Given the description of an element on the screen output the (x, y) to click on. 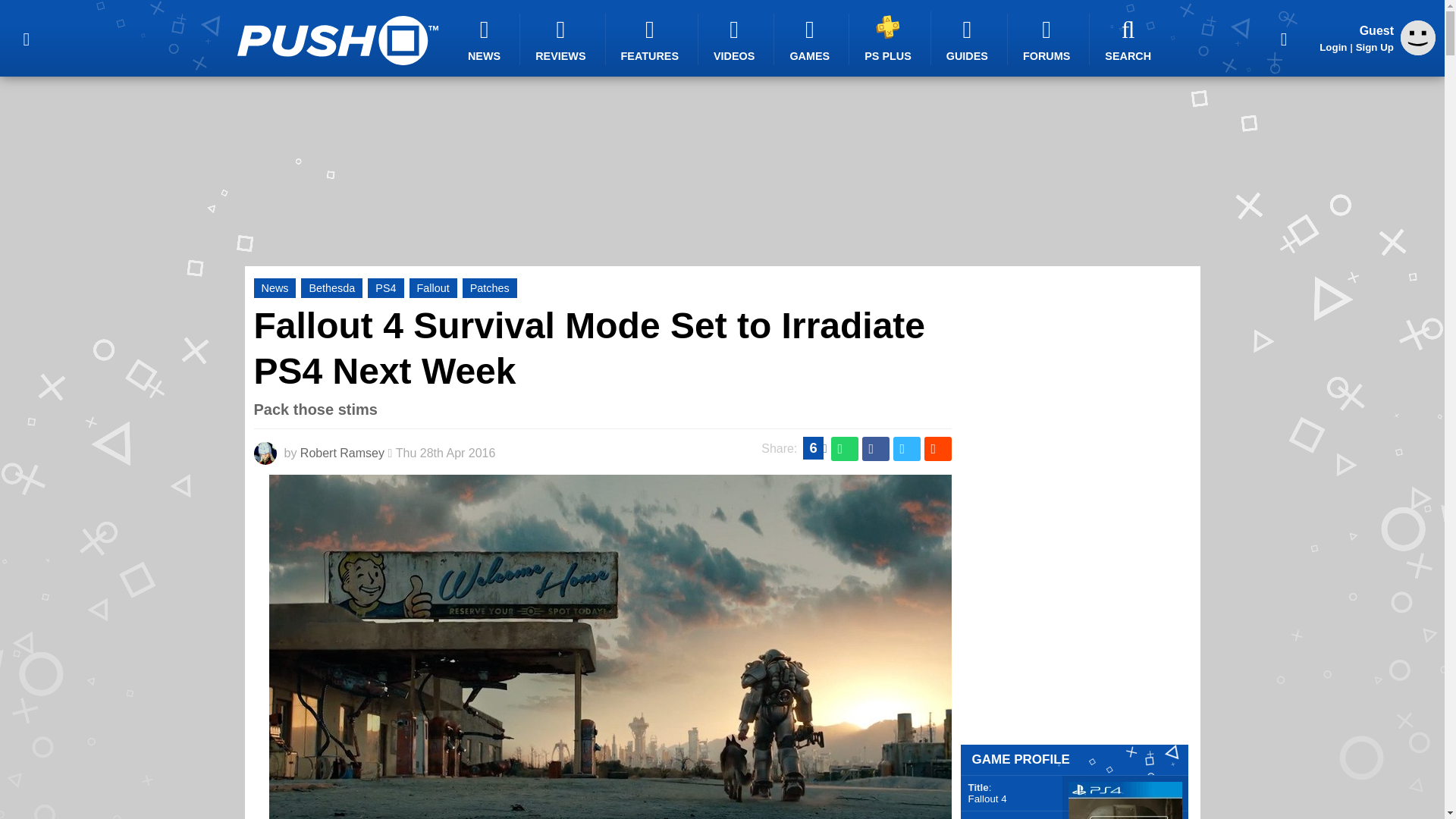
SEARCH (1129, 39)
Share this on Facebook (874, 448)
GAMES (811, 39)
VIDEOS (736, 39)
PS4 (385, 288)
Share this on WhatsApp (845, 448)
Share This Page (1283, 37)
PS PLUS (889, 38)
Patches (489, 288)
News (274, 288)
